Given the description of an element on the screen output the (x, y) to click on. 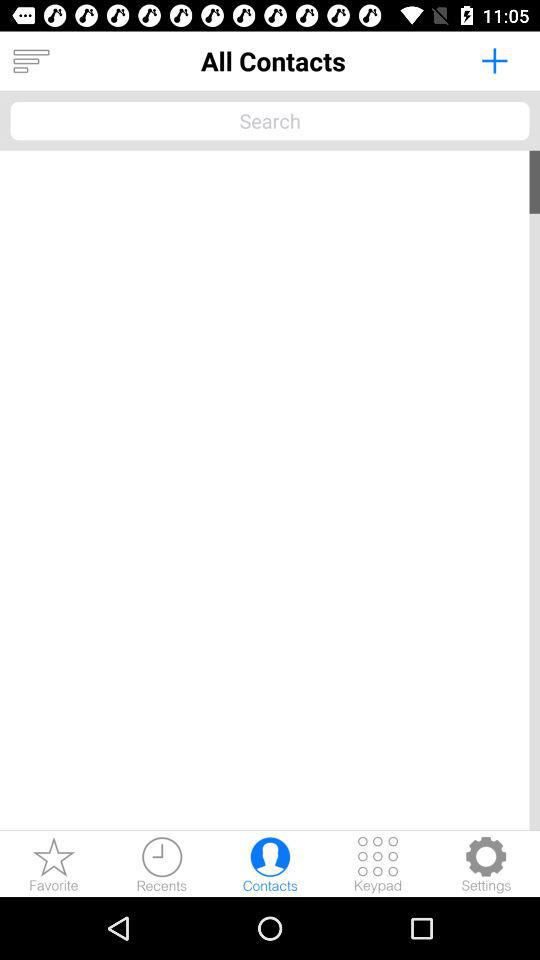
clique para procurar (270, 120)
